Given the description of an element on the screen output the (x, y) to click on. 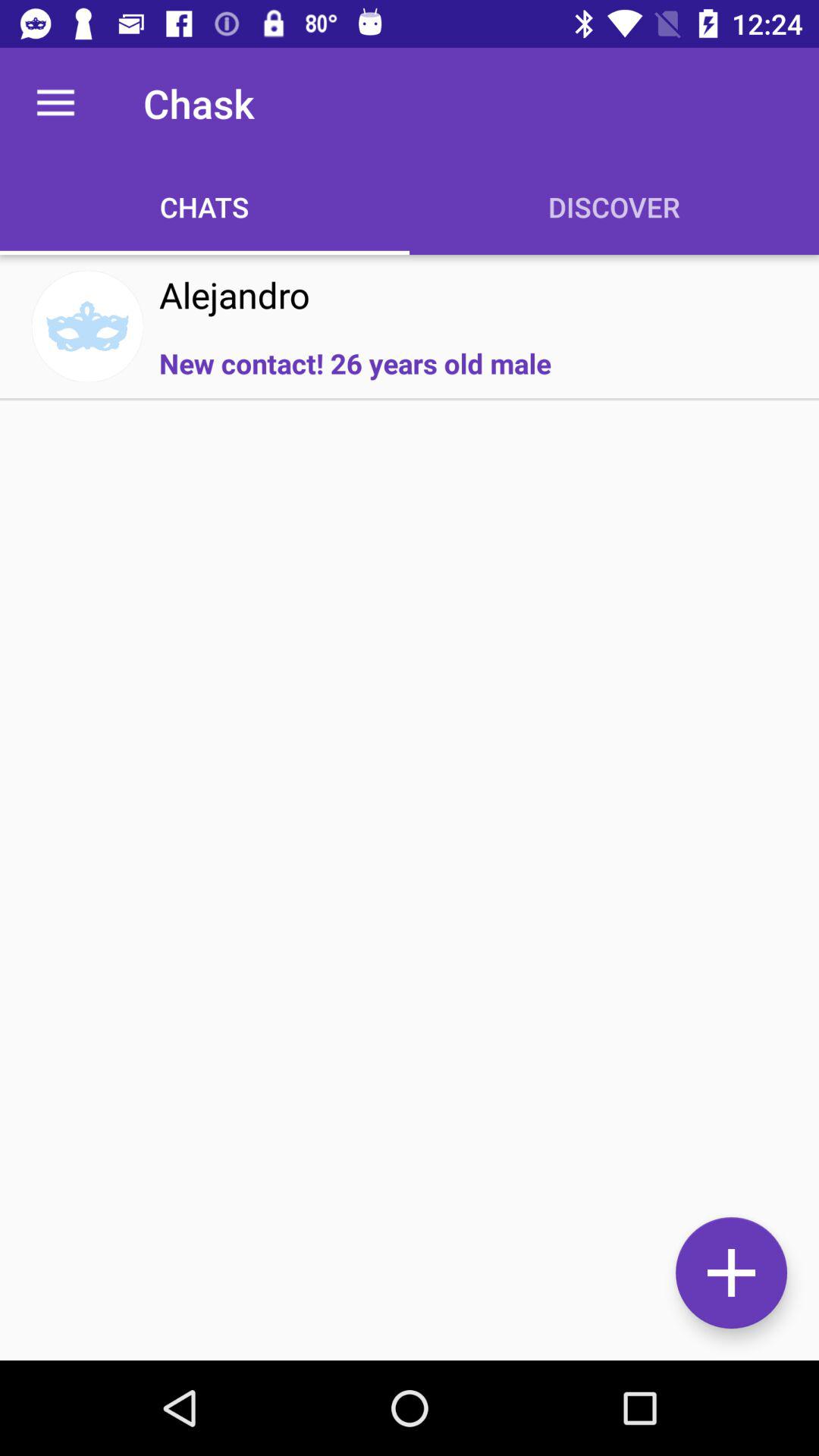
tap item next to alejandro item (87, 326)
